Given the description of an element on the screen output the (x, y) to click on. 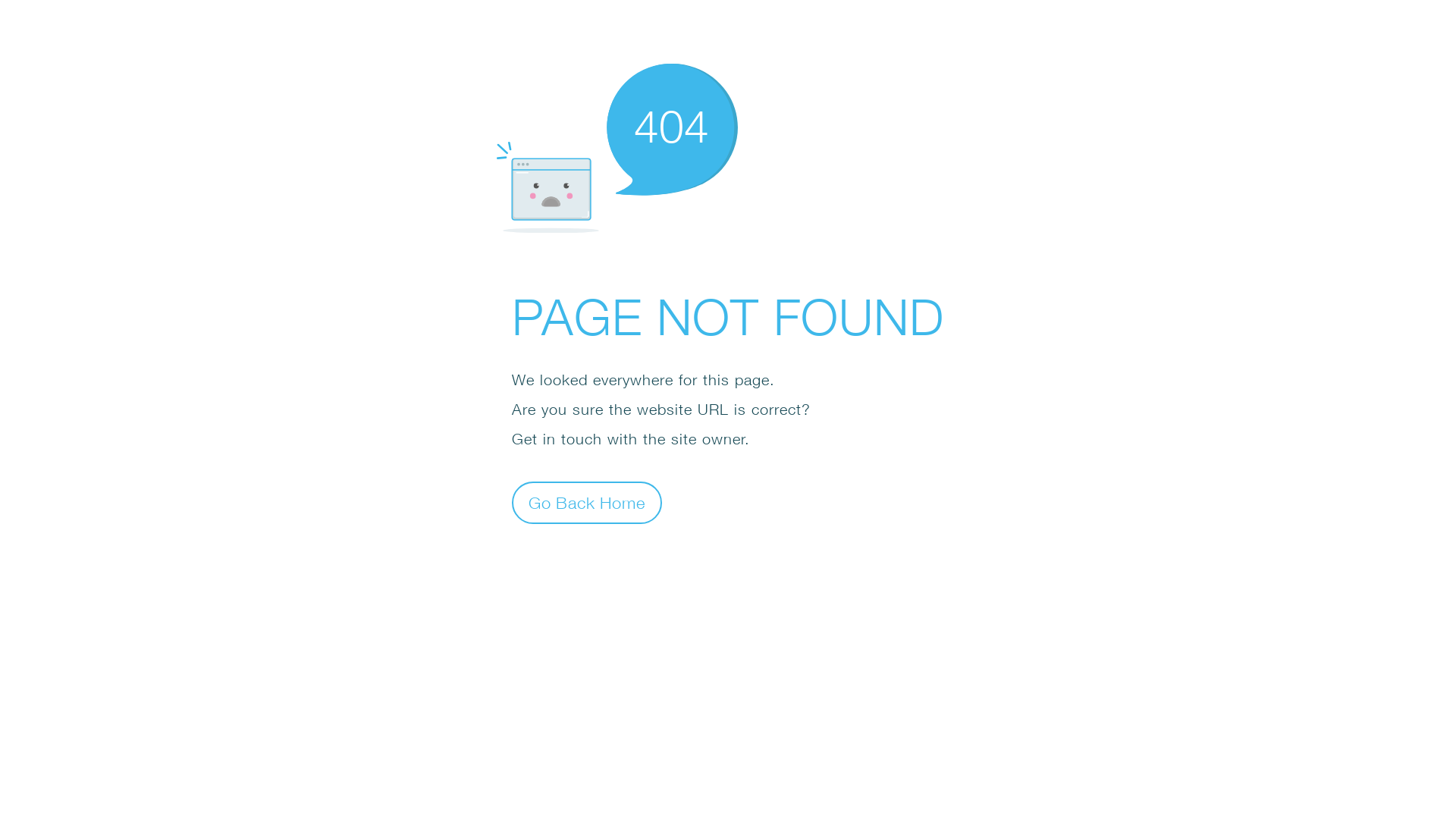
Go Back Home Element type: text (586, 502)
